Given the description of an element on the screen output the (x, y) to click on. 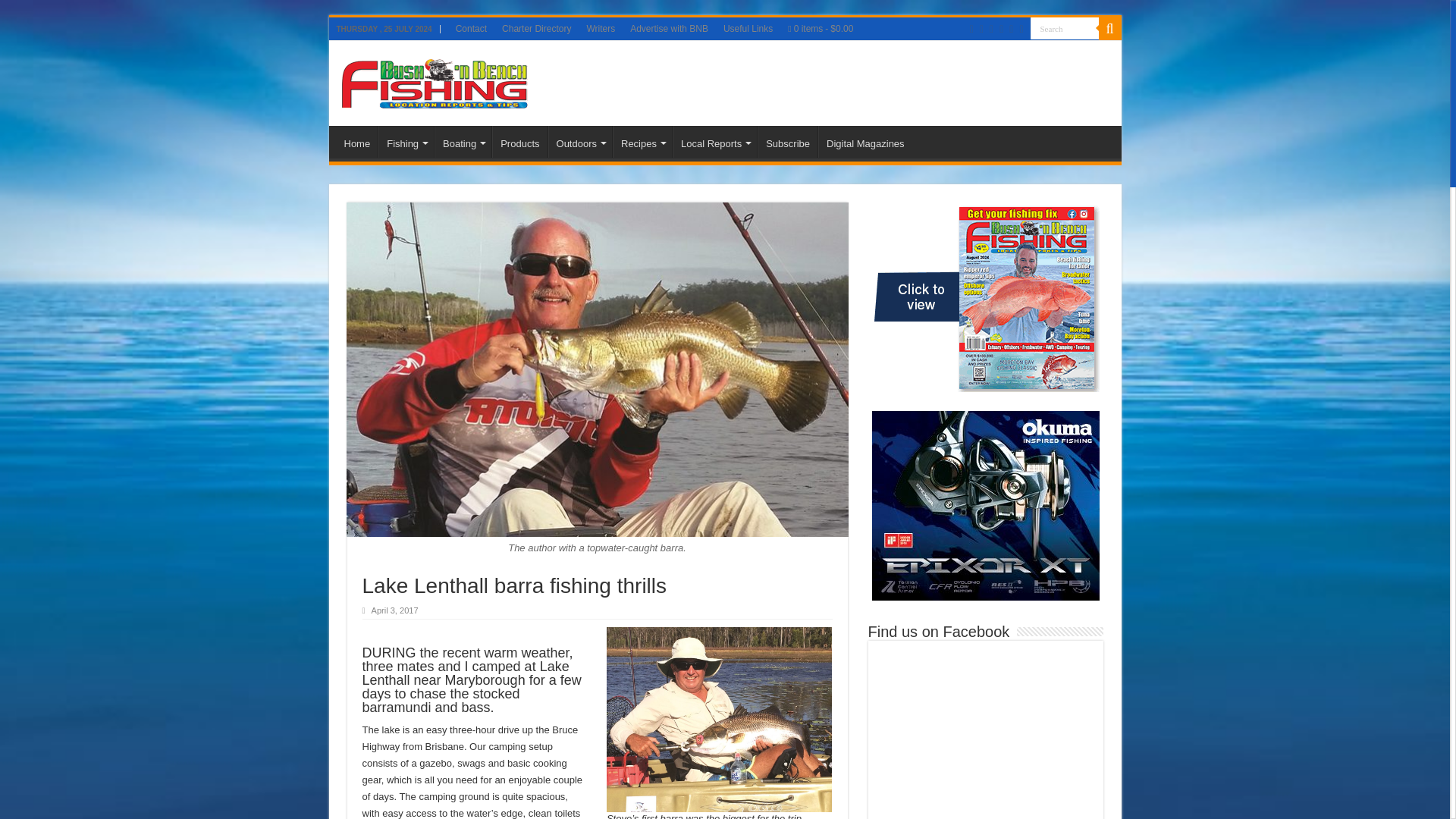
Search (1063, 28)
Search (1063, 28)
Start shopping (820, 28)
Search (1063, 28)
